Given the description of an element on the screen output the (x, y) to click on. 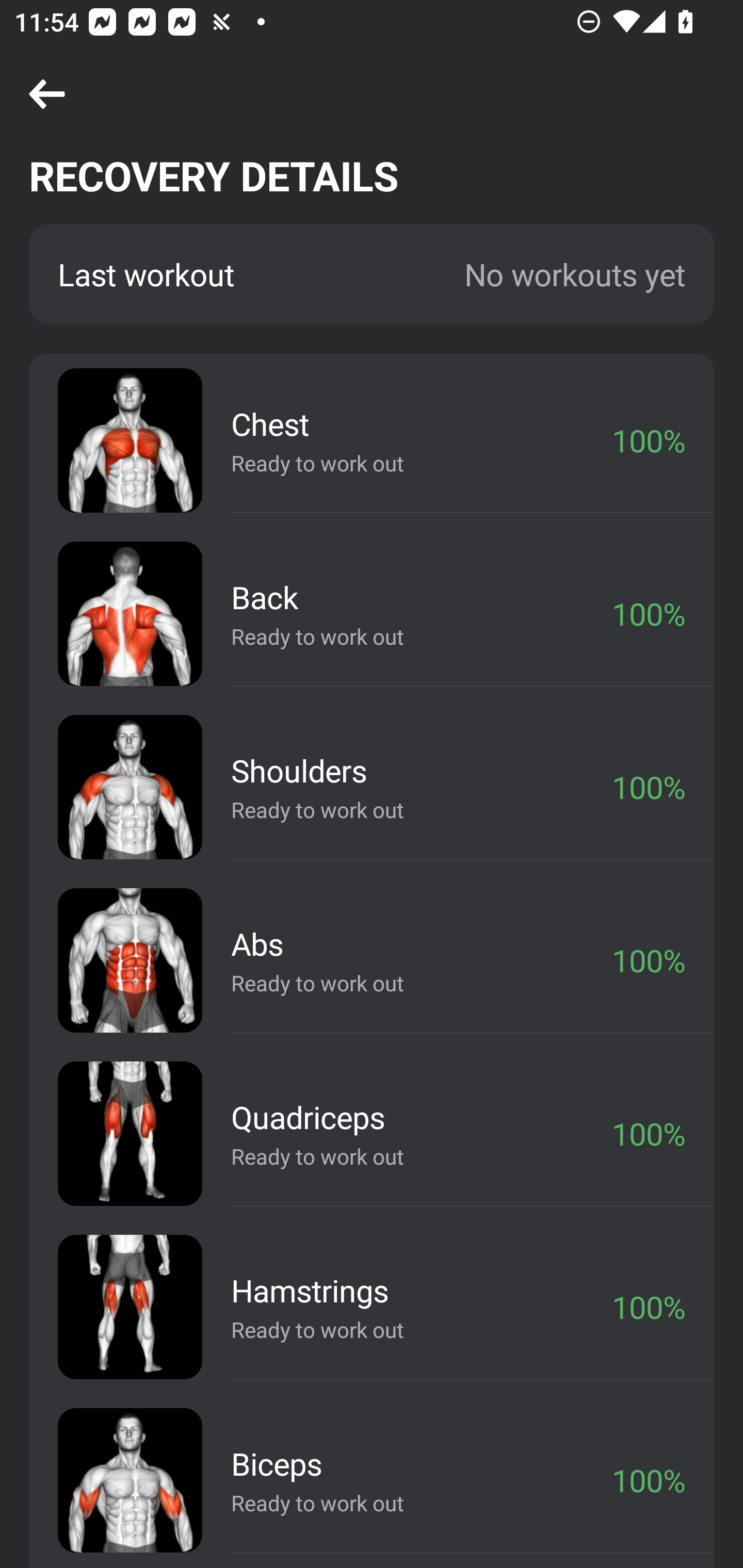
Navigation icon (46, 94)
